Given the description of an element on the screen output the (x, y) to click on. 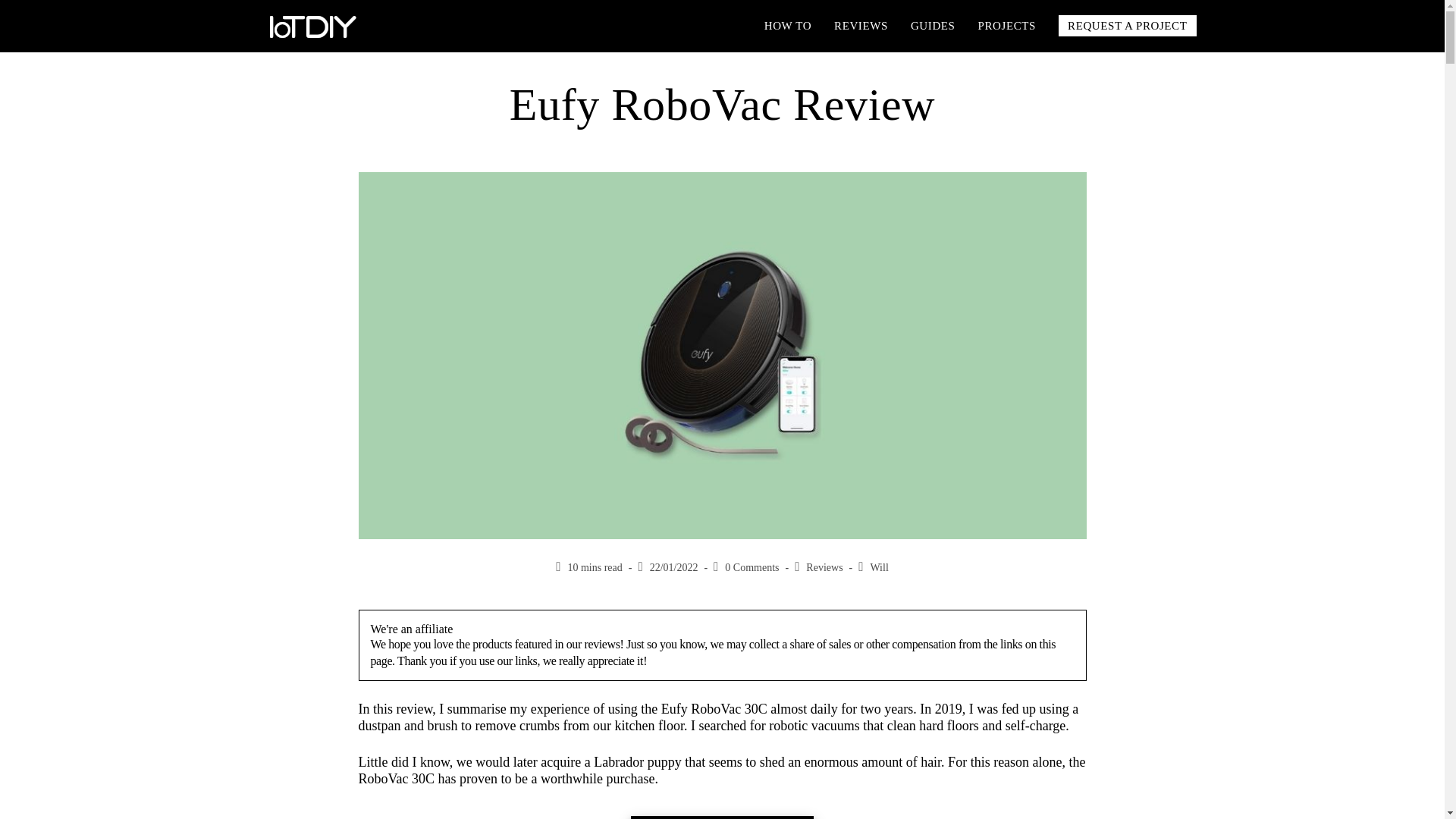
PROJECTS (1007, 26)
HOW TO (787, 26)
REQUEST A PROJECT (1126, 26)
GUIDES (932, 26)
0 Comments (751, 567)
Will (878, 567)
Posts by Will (878, 567)
REVIEWS (860, 26)
Reviews (824, 567)
